Given the description of an element on the screen output the (x, y) to click on. 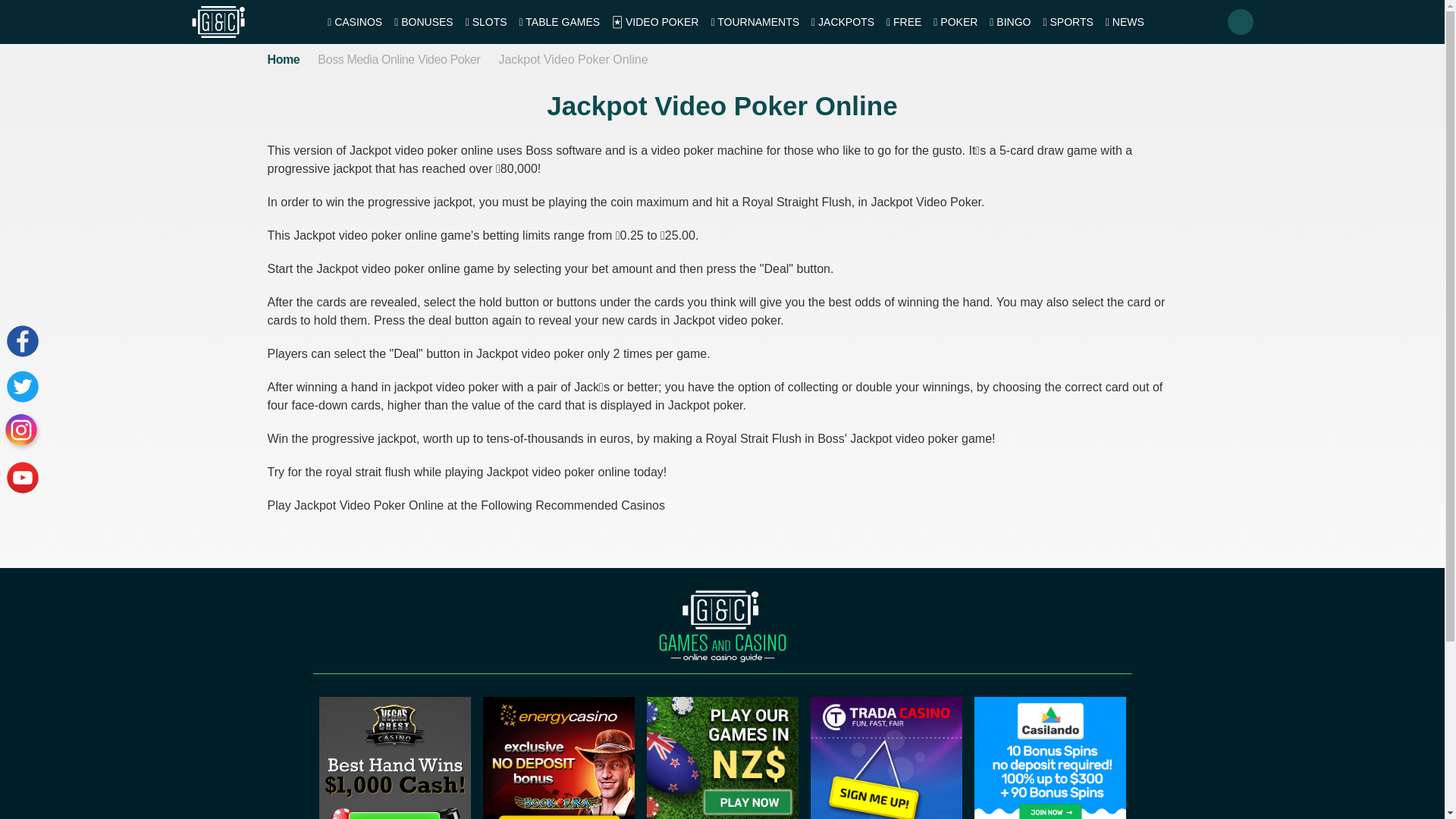
Games and Casinos - online casino guide (722, 626)
